Given the description of an element on the screen output the (x, y) to click on. 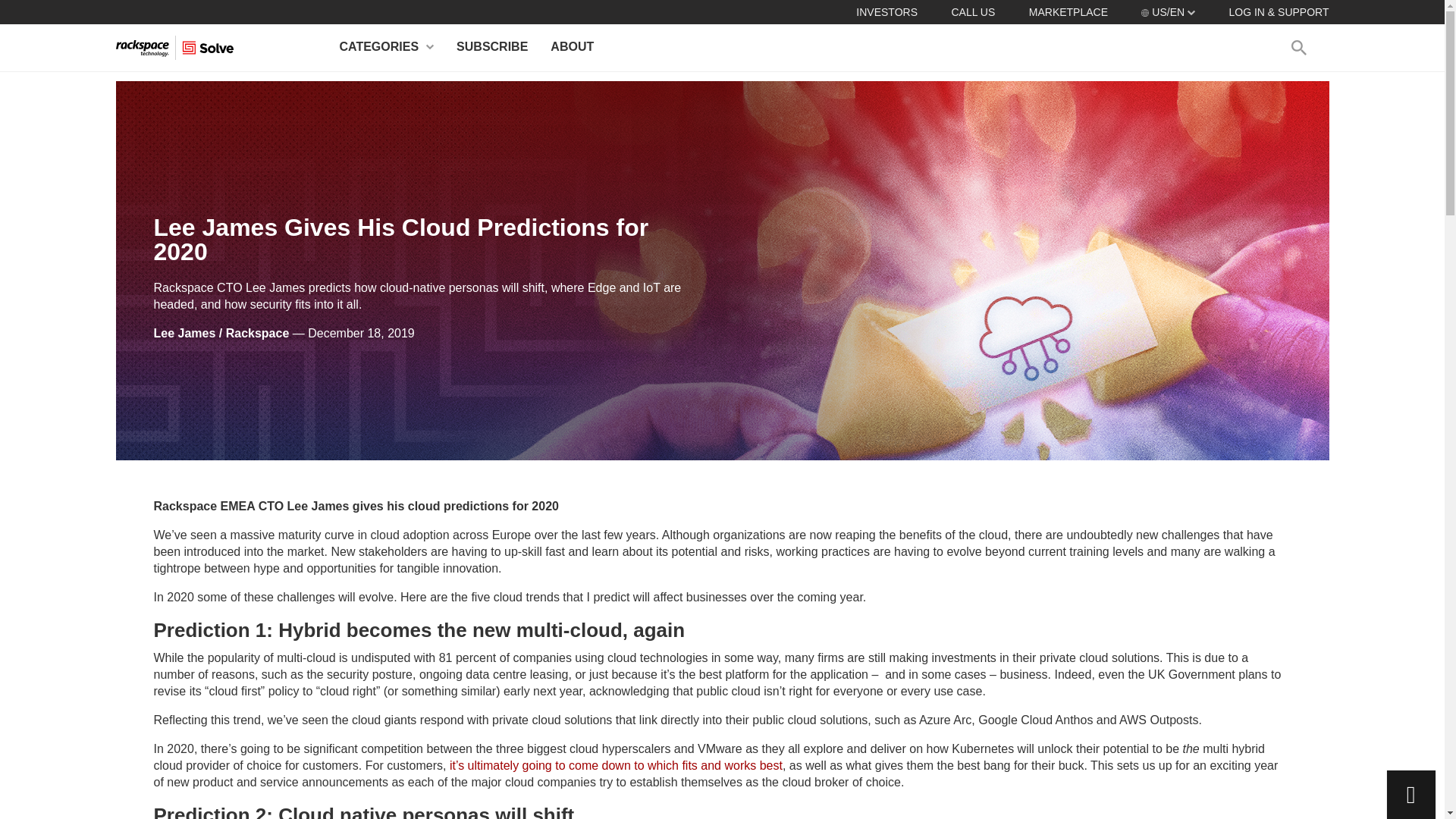
SUBSCRIBE (491, 47)
INVESTORS (886, 11)
CALL US (972, 11)
ABOUT (571, 47)
CATEGORIES (386, 47)
MARKETPLACE (1068, 11)
